Given the description of an element on the screen output the (x, y) to click on. 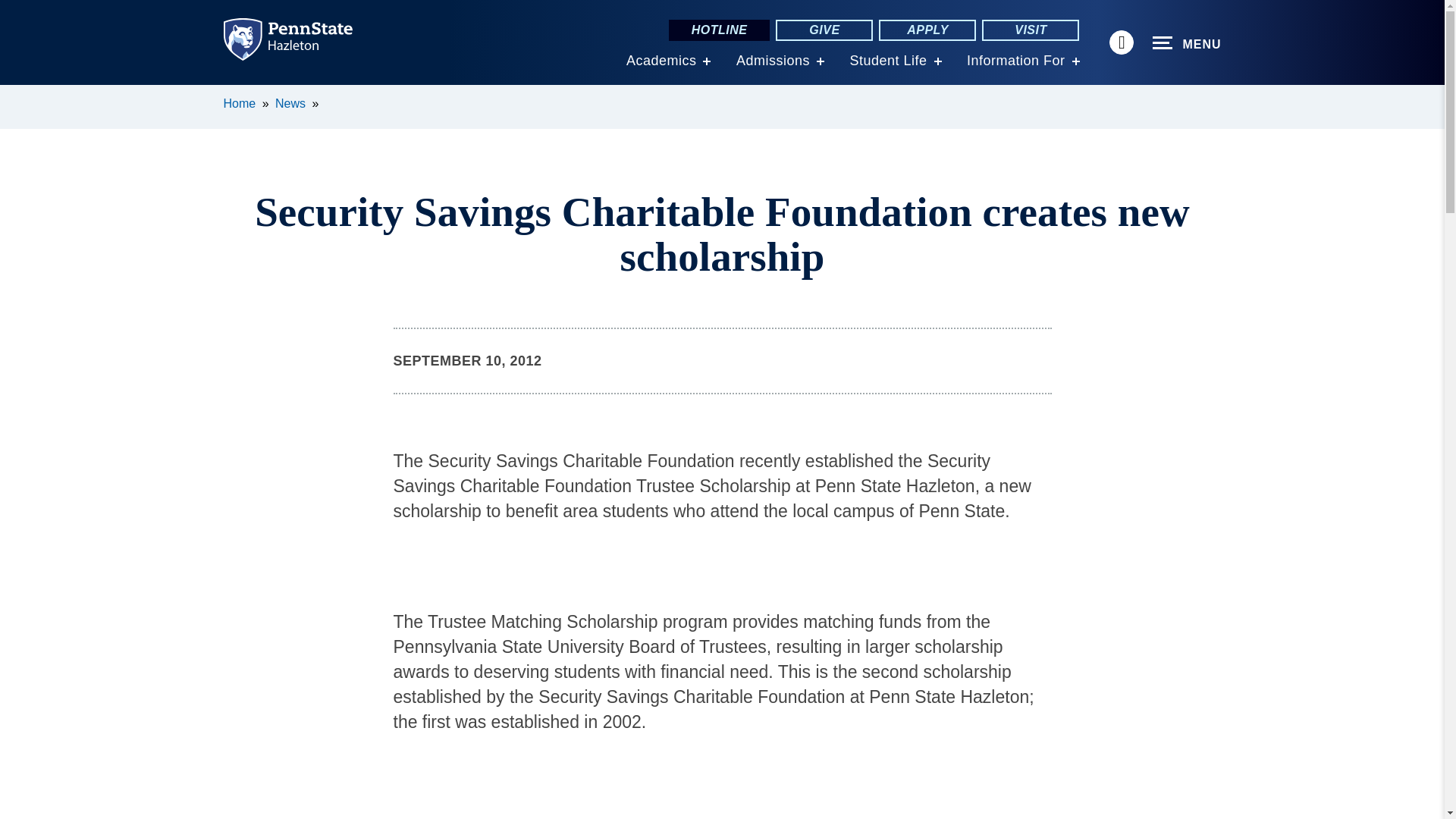
HOTLINE (719, 29)
GIVE (824, 29)
VISIT (1029, 29)
APPLY (927, 29)
Admissions (772, 60)
Information For (1015, 60)
MENU (1187, 43)
Student Life (887, 60)
Academics (661, 60)
Student Life (887, 60)
SKIP TO MAIN CONTENT (19, 95)
Academics (661, 60)
Admission (772, 60)
